Given the description of an element on the screen output the (x, y) to click on. 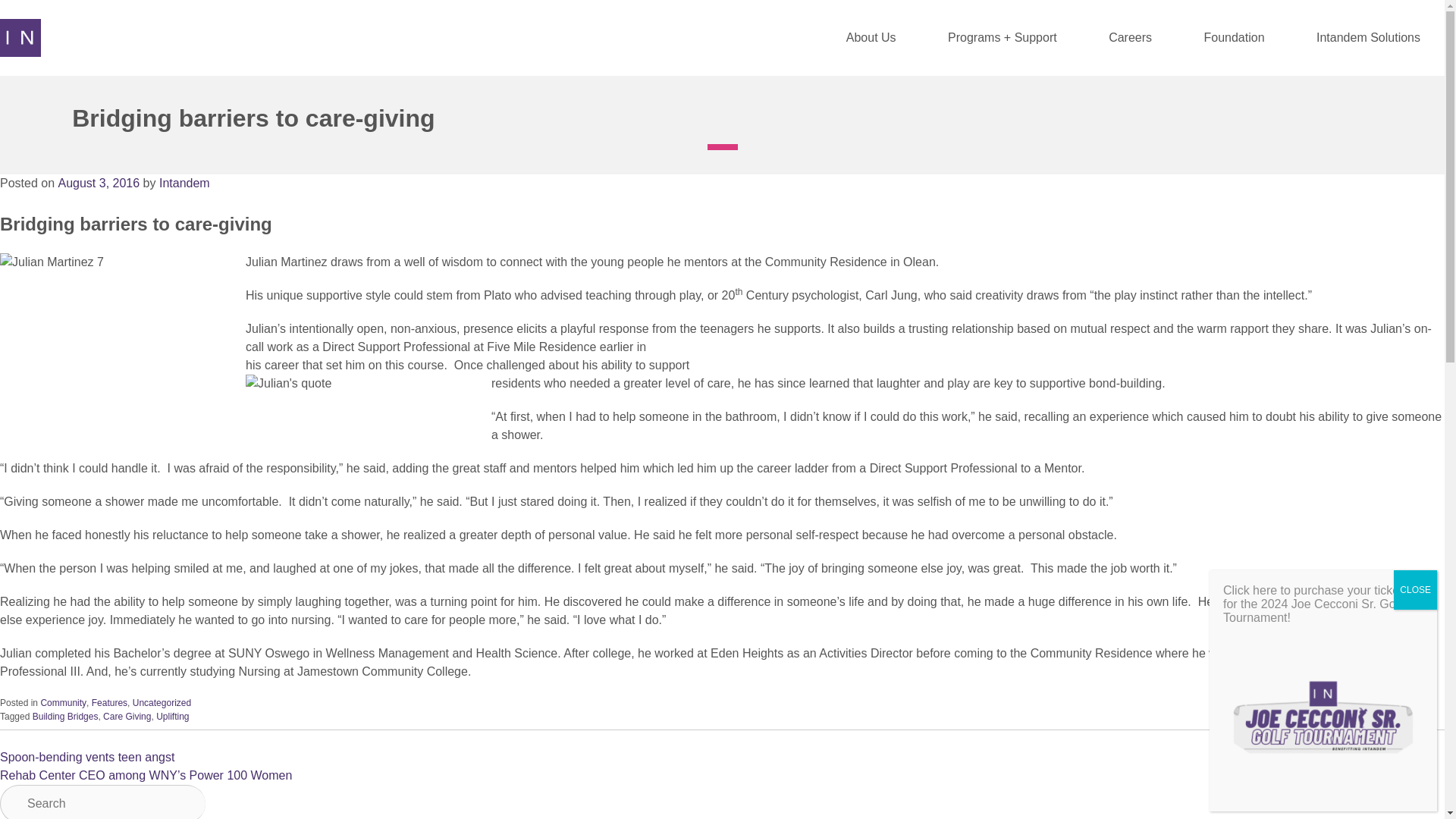
Uplifting (172, 716)
Care Giving (127, 716)
Uncategorized (161, 702)
Careers (1130, 38)
About Us (871, 38)
Building Bridges (65, 716)
August 3, 2016 (98, 182)
Community (62, 702)
Intandem (183, 182)
Spoon-bending vents teen angst (87, 757)
Features (109, 702)
Foundation (1233, 38)
